Given the description of an element on the screen output the (x, y) to click on. 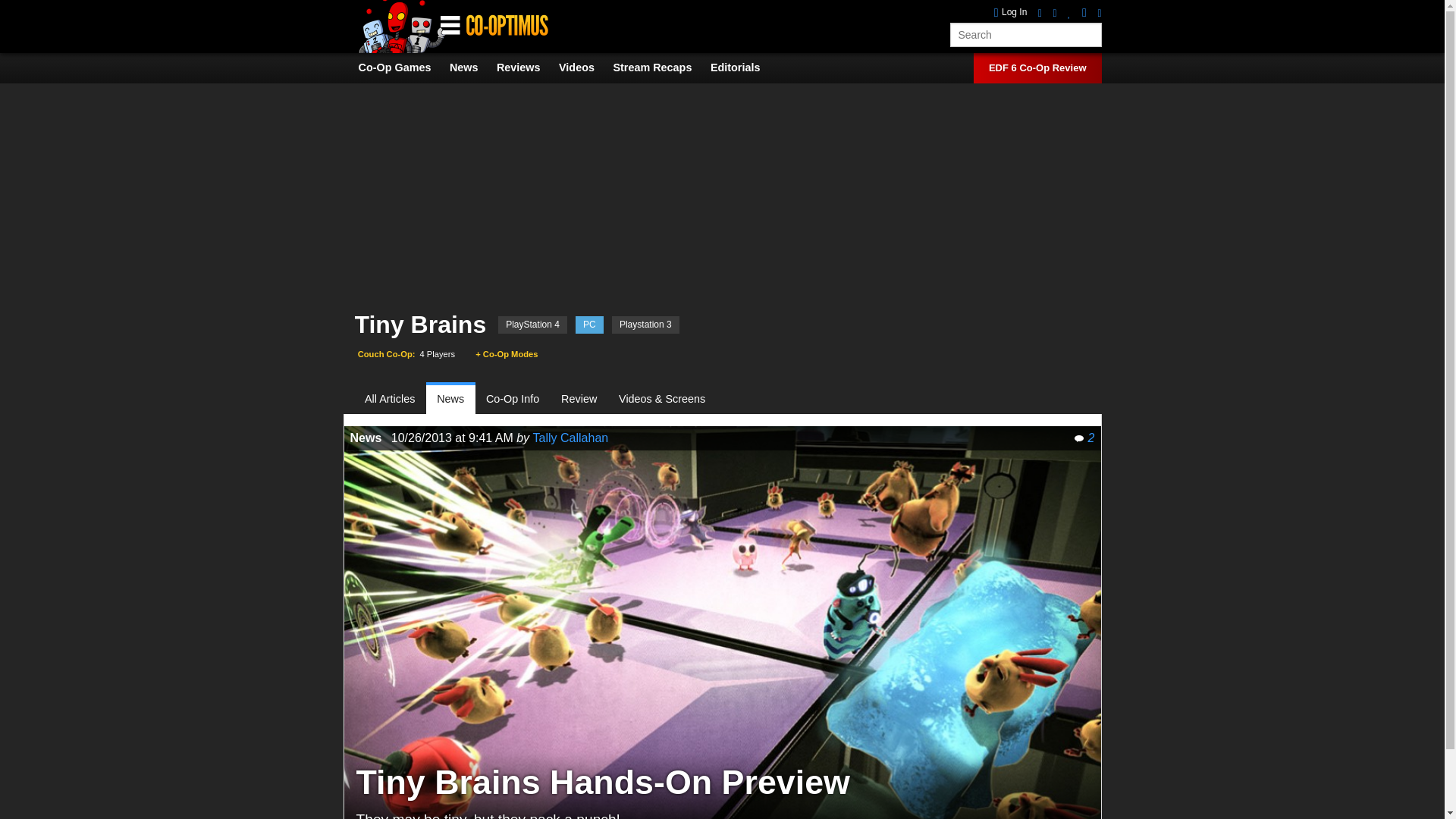
login (1010, 11)
Review (579, 398)
Weekly Video Streams and VODs from Co-Optimus (659, 67)
News (451, 398)
Co-Op Games (401, 67)
Playstation 3 (645, 324)
Stream Recaps (659, 67)
Co-Op Info (513, 398)
Reviews (526, 67)
Videos (584, 67)
